Given the description of an element on the screen output the (x, y) to click on. 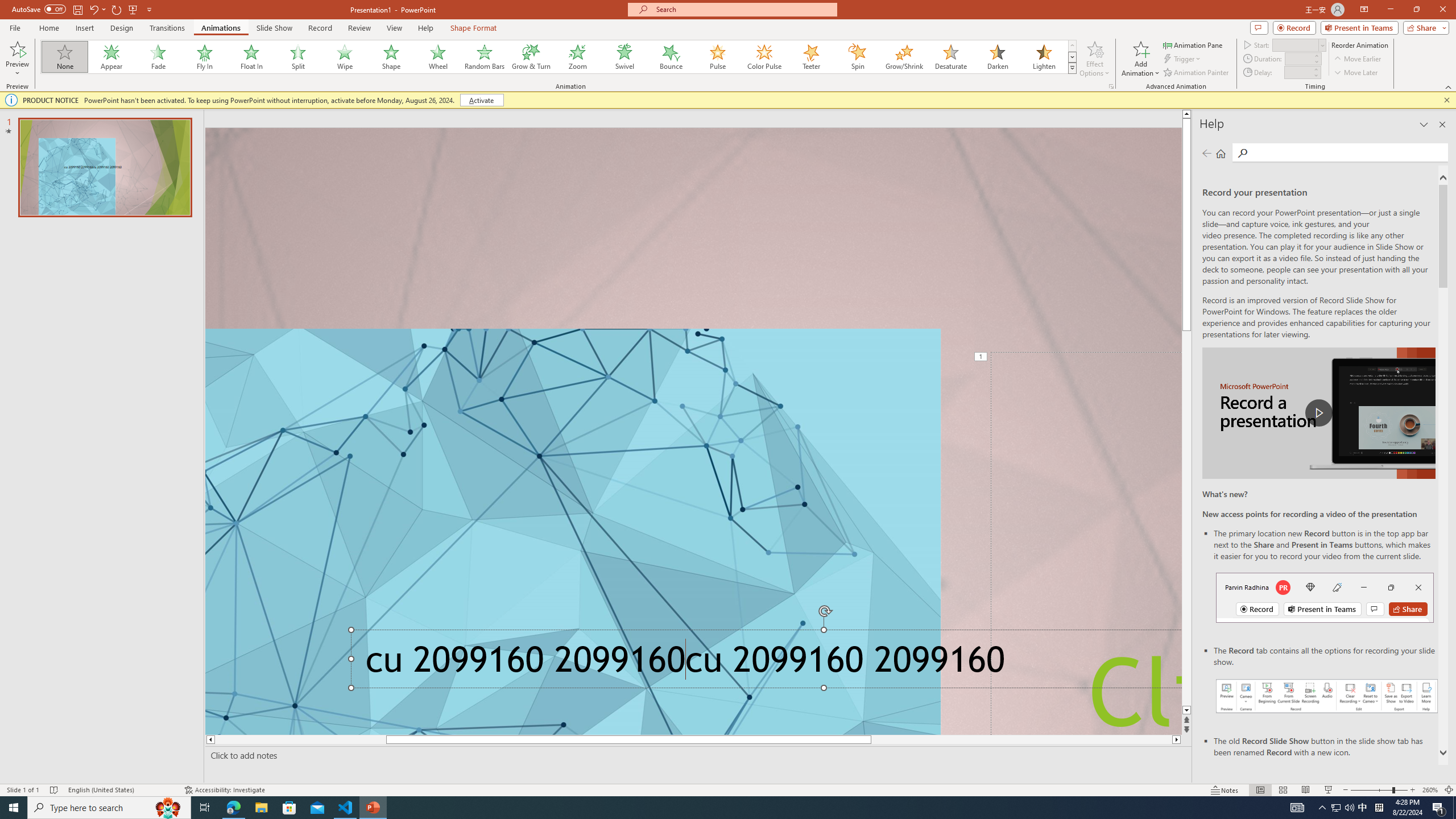
Record your presentations screenshot one (1326, 695)
Less (1315, 75)
Zoom 260% (1430, 790)
Slide Notes (696, 755)
Desaturate (950, 56)
Previous page (1206, 152)
